Given the description of an element on the screen output the (x, y) to click on. 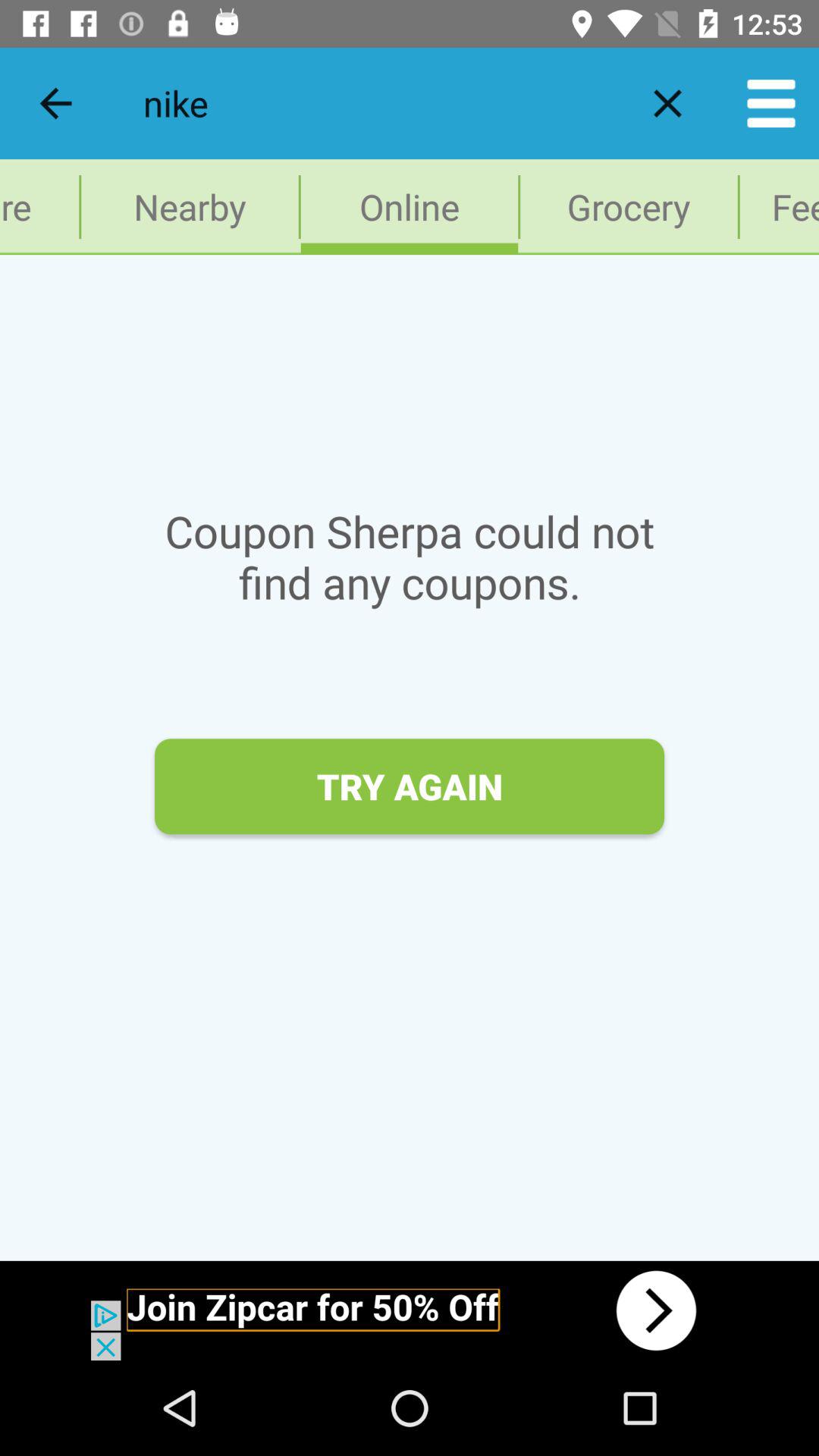
advertisement link (409, 1310)
